Given the description of an element on the screen output the (x, y) to click on. 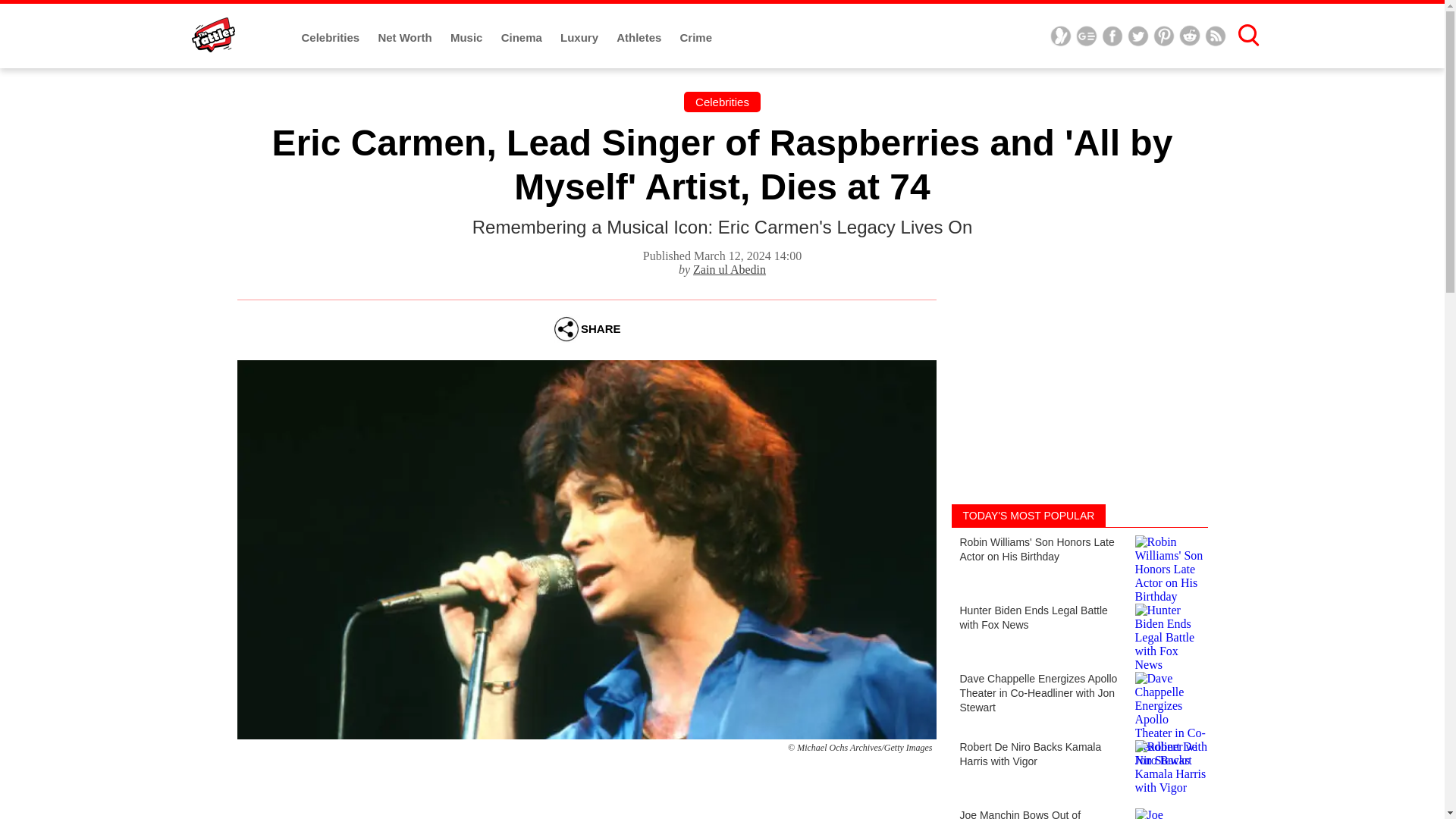
Cinema (522, 37)
Celebrities (331, 37)
Luxury (580, 37)
Net Worth (406, 37)
Celebrities (722, 101)
Music (467, 37)
Zain ul Abedin (729, 269)
Athletes (639, 37)
Crime (696, 37)
